Given the description of an element on the screen output the (x, y) to click on. 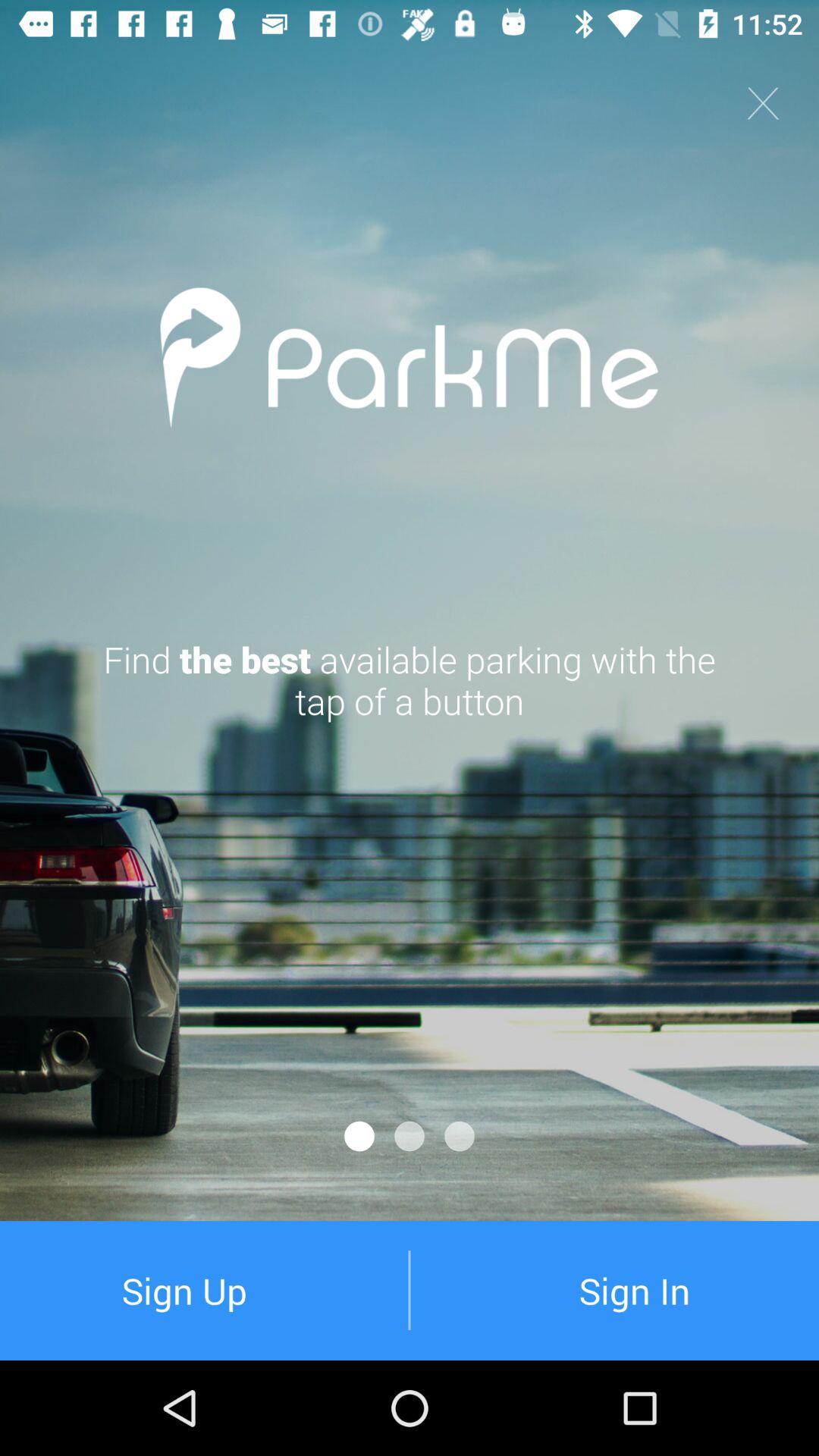
close the screen (763, 103)
